Given the description of an element on the screen output the (x, y) to click on. 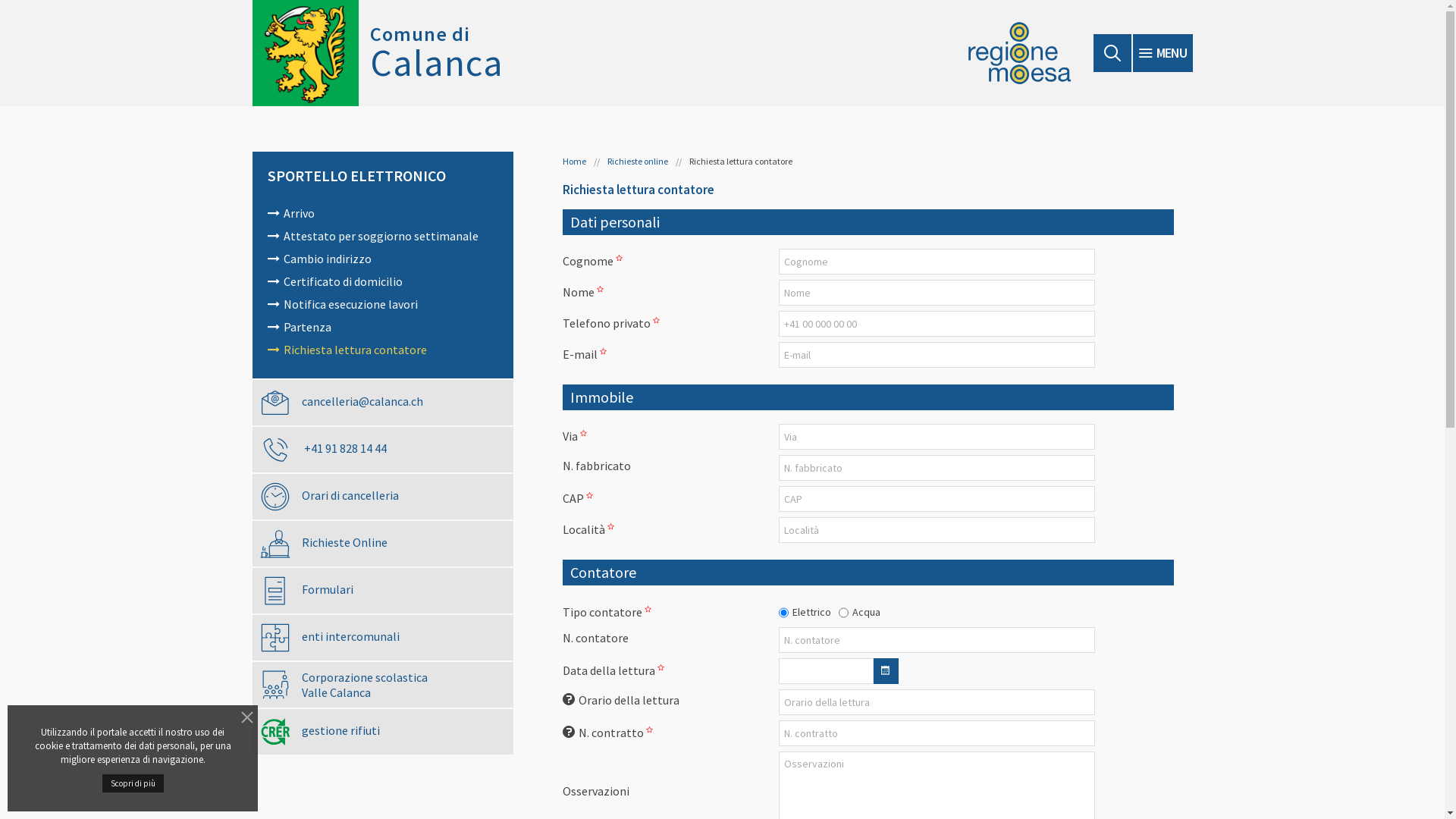
Home Element type: text (574, 160)
Corporazione scolastica
Valle Calanca Element type: text (381, 684)
Partenza Element type: text (381, 326)
Sitemap Element type: text (1173, 515)
Attestato per soggiorno settimanale Element type: text (381, 235)
Arrivo Element type: text (381, 212)
Impressum Element type: text (1166, 549)
cancelleria@calanca.ch Element type: text (548, 620)
Formulari Element type: text (381, 590)
 +41 91 828 14 44 Element type: text (381, 449)
T +41 91 828 14 44 Element type: text (535, 603)
Richieste Online Element type: text (381, 543)
Richieste online Element type: text (636, 160)
Protezione dati Element type: text (1155, 532)
Orari di cancelleria Element type: text (381, 496)
... Element type: text (885, 671)
MENU Element type: text (1162, 53)
Cambio indirizzo Element type: text (381, 258)
enti intercomunali Element type: text (381, 637)
Comune di
Calanca Element type: text (376, 53)
Notifica esecuzione lavori Element type: text (381, 303)
Certificato di domicilio Element type: text (381, 281)
Richiesta lettura contatore Element type: text (381, 349)
cancelleria@calanca.ch Element type: text (381, 402)
gestione rifiuti Element type: text (381, 731)
